Given the description of an element on the screen output the (x, y) to click on. 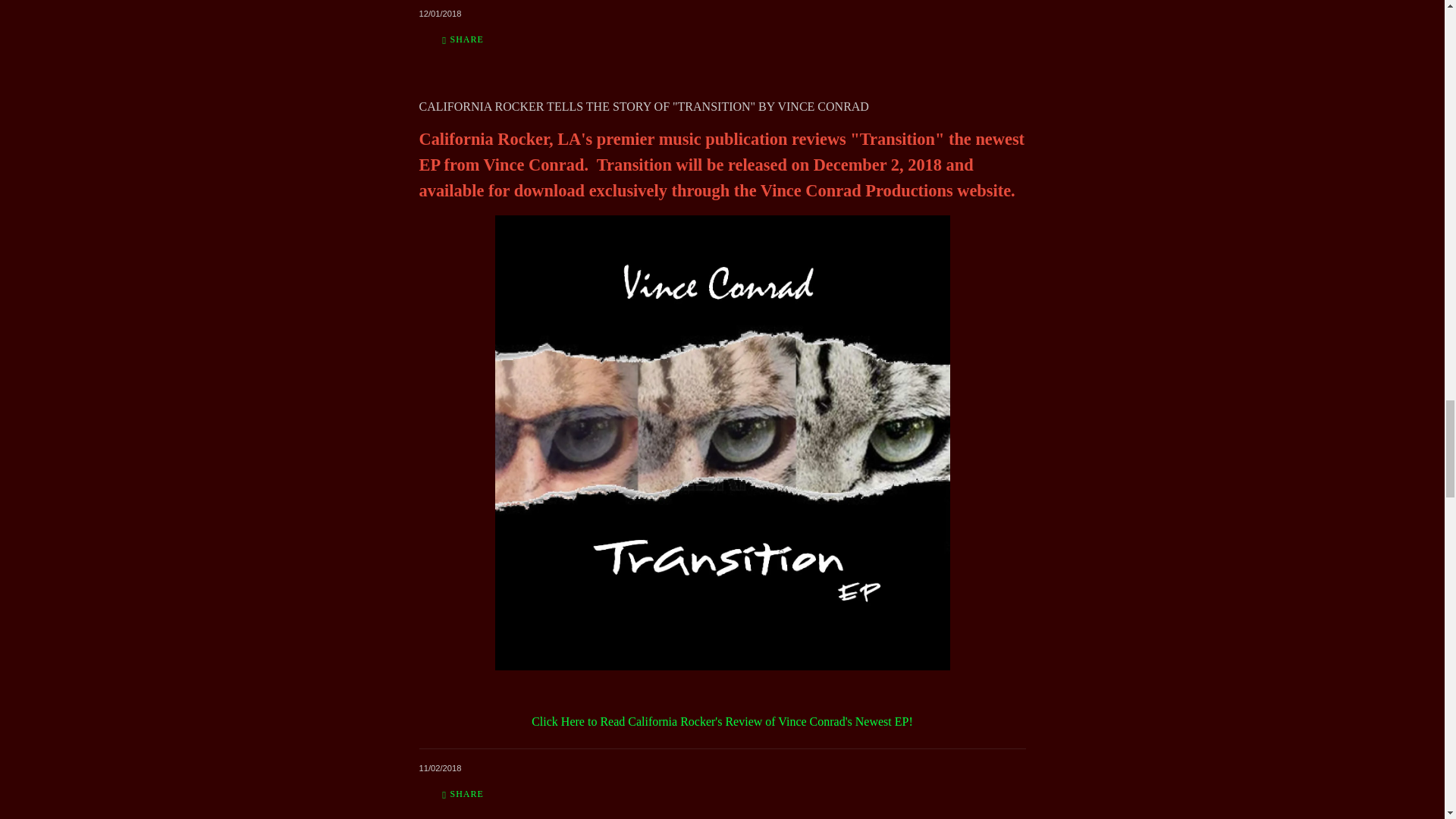
December 01, 2018 20:39 (440, 13)
Share TRANSITION by Vince Conrad - NOW AVAILABLE! (462, 39)
November 02, 2018 22:07 (440, 768)
SHARE (462, 39)
